Given the description of an element on the screen output the (x, y) to click on. 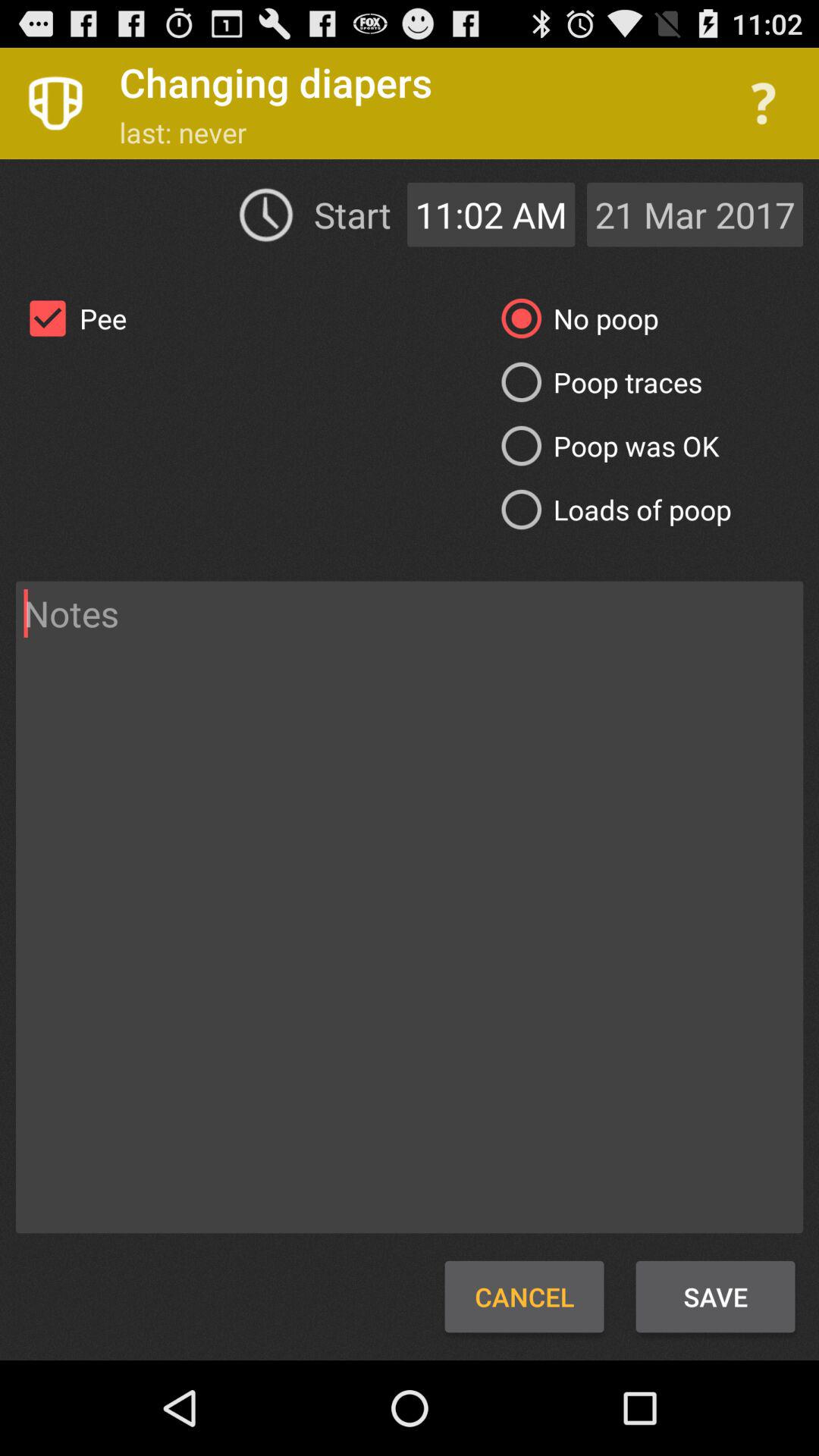
select poop traces (595, 382)
